Given the description of an element on the screen output the (x, y) to click on. 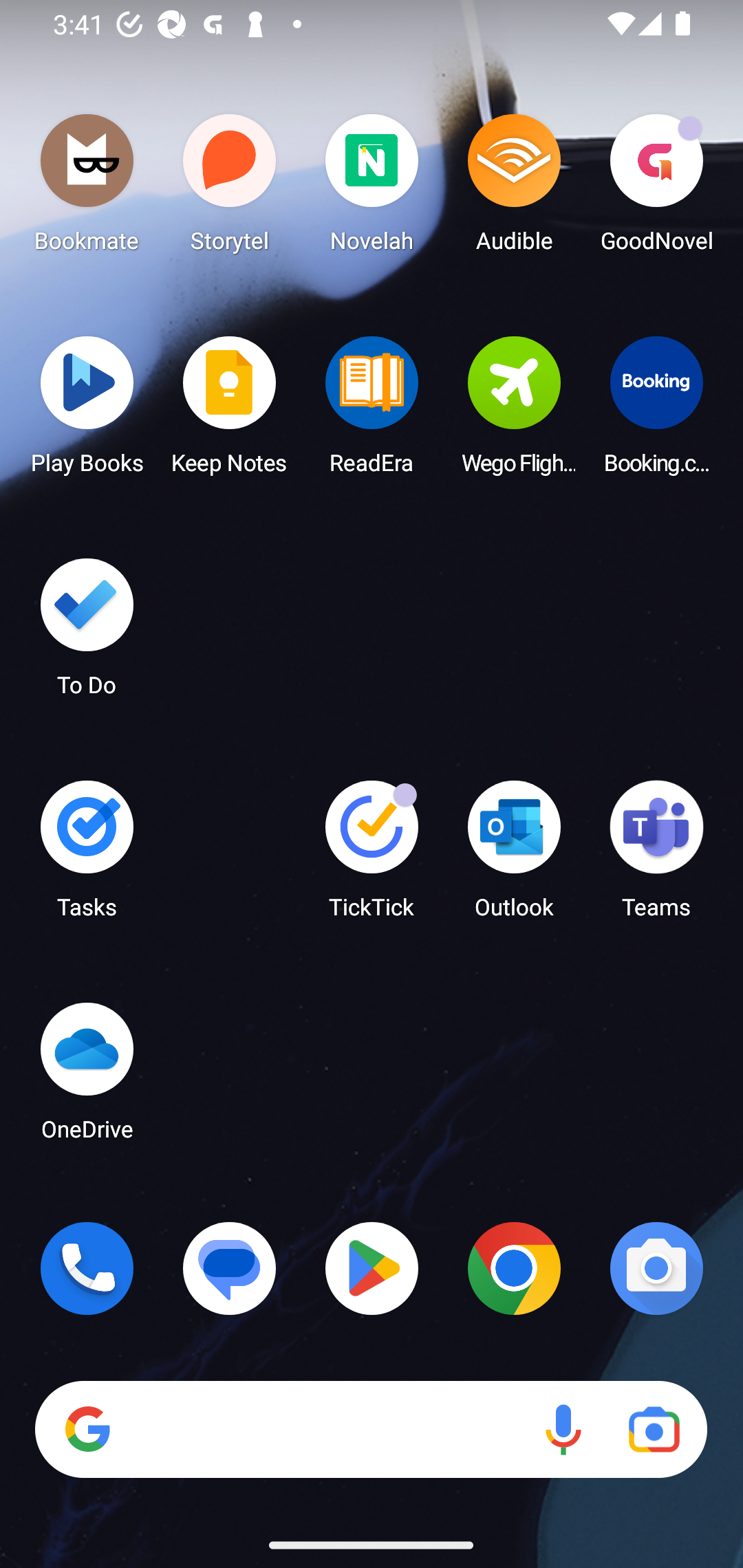
Bookmate (86, 188)
Storytel (229, 188)
Novelah (371, 188)
Audible (513, 188)
GoodNovel GoodNovel has 1 notification (656, 188)
Play Books (86, 410)
Keep Notes (229, 410)
ReadEra (371, 410)
Wego Flights & Hotels (513, 410)
Booking.com (656, 410)
To Do (86, 633)
Tasks (86, 854)
TickTick TickTick has 3 notifications (371, 854)
Outlook (513, 854)
Teams (656, 854)
OneDrive (86, 1076)
Phone (86, 1268)
Messages (229, 1268)
Play Store (371, 1268)
Chrome (513, 1268)
Camera (656, 1268)
Search Voice search Google Lens (370, 1429)
Voice search (562, 1429)
Google Lens (653, 1429)
